Given the description of an element on the screen output the (x, y) to click on. 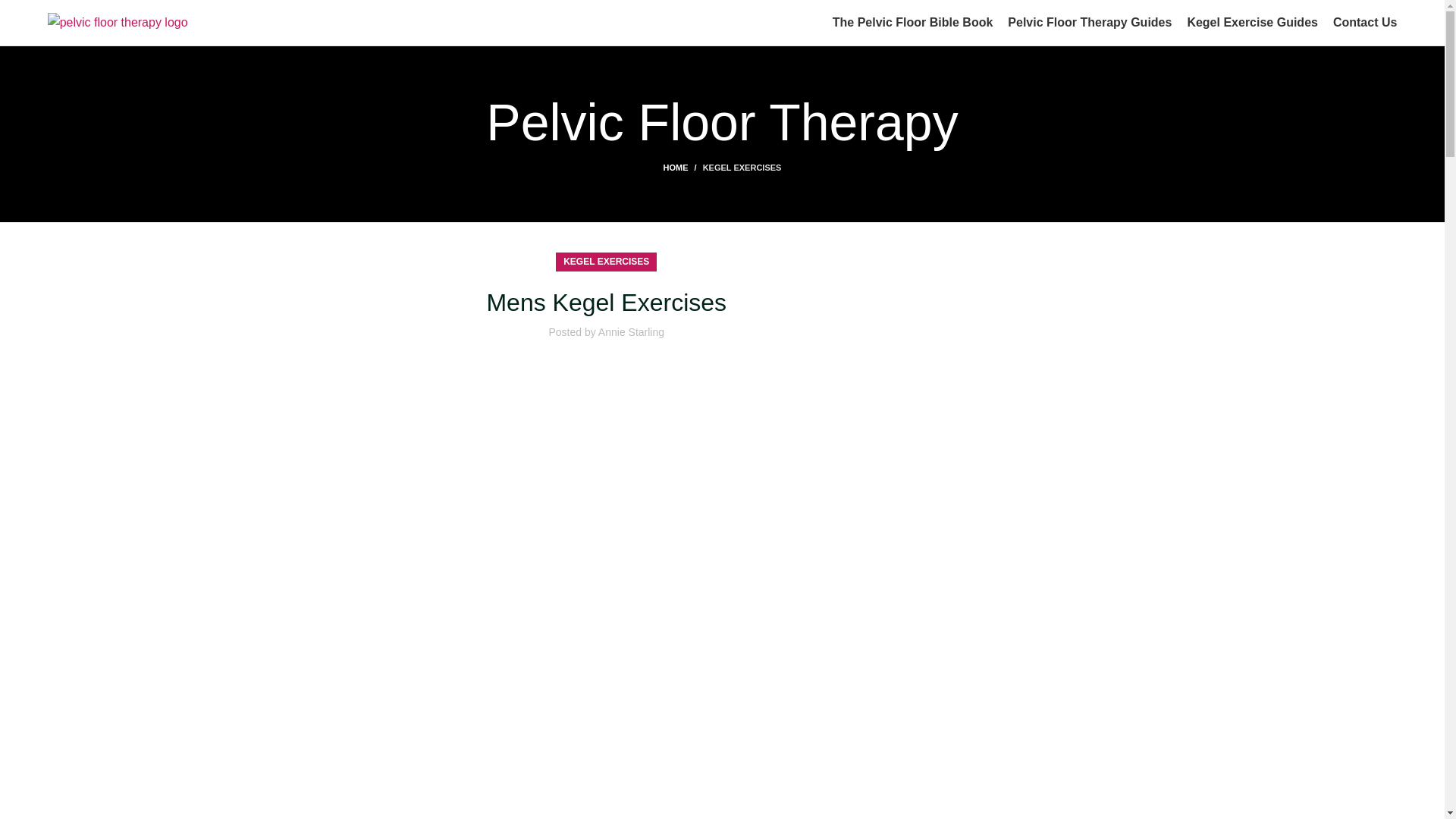
Contact Us (1364, 22)
Kegel Exercise Guides (1251, 22)
KEGEL EXERCISES (742, 166)
HOME (683, 167)
The Pelvic Floor Bible Book (912, 22)
Annie Starling (630, 331)
KEGEL EXERCISES (606, 261)
Pelvic Floor Therapy Guides (1089, 22)
